Given the description of an element on the screen output the (x, y) to click on. 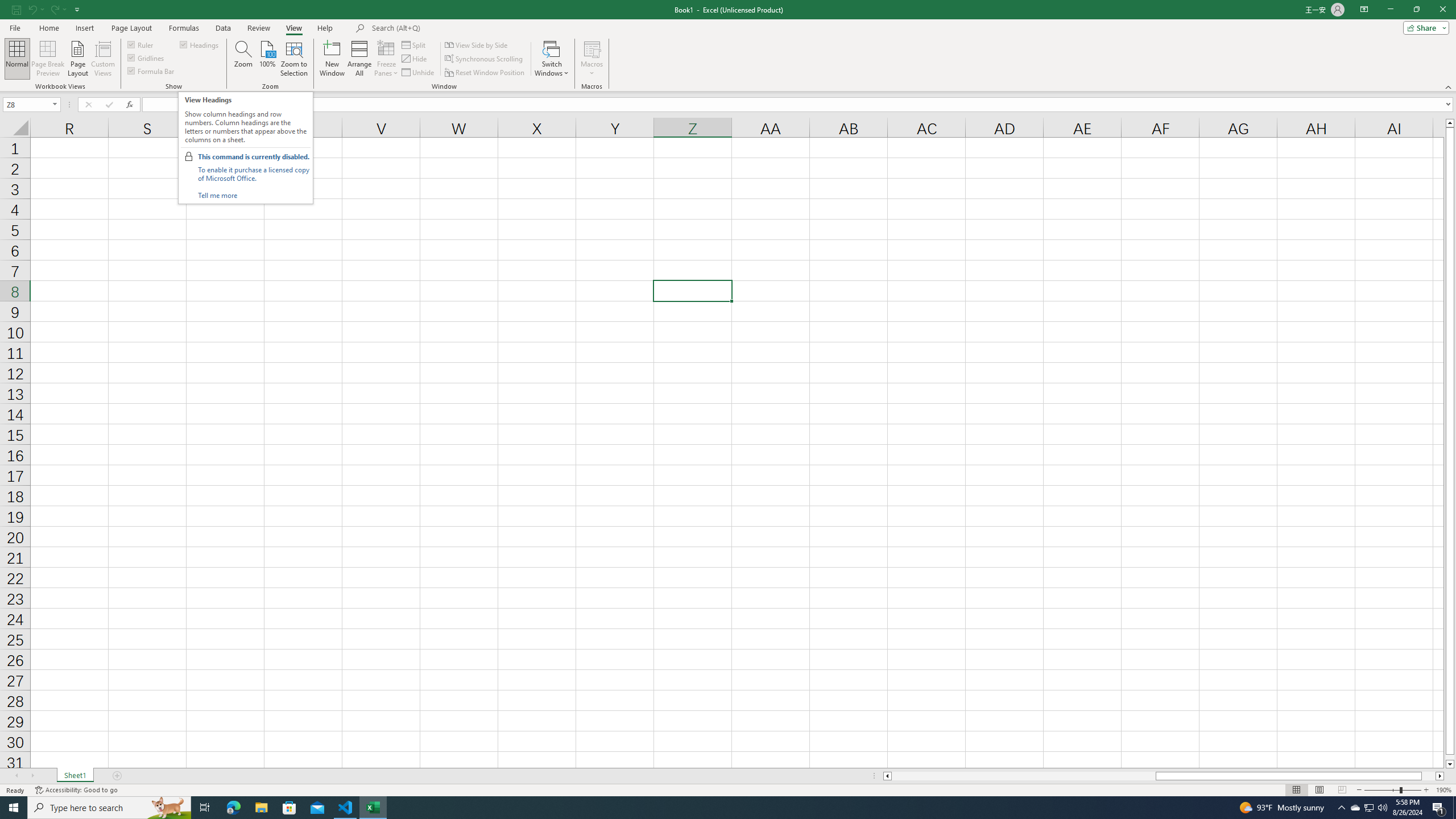
Gridlines (146, 56)
Arrange All (359, 58)
